Given the description of an element on the screen output the (x, y) to click on. 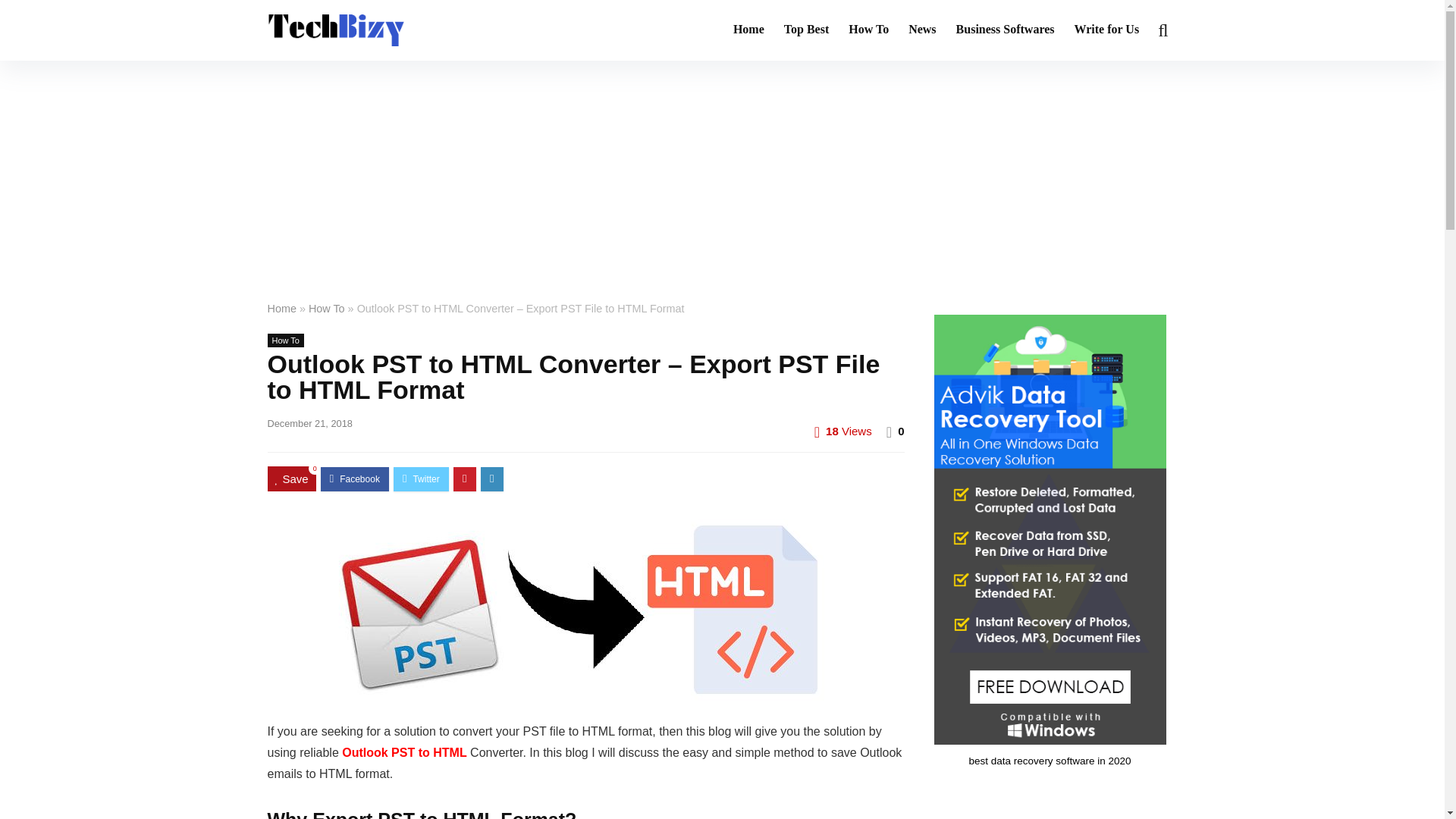
How To (868, 30)
Write for Us (1107, 30)
How To (326, 308)
Home (748, 30)
Home (280, 308)
View all posts in How To (284, 340)
How To (284, 340)
Outlook PST to HTML (403, 752)
News (921, 30)
Top Best (806, 30)
